Given the description of an element on the screen output the (x, y) to click on. 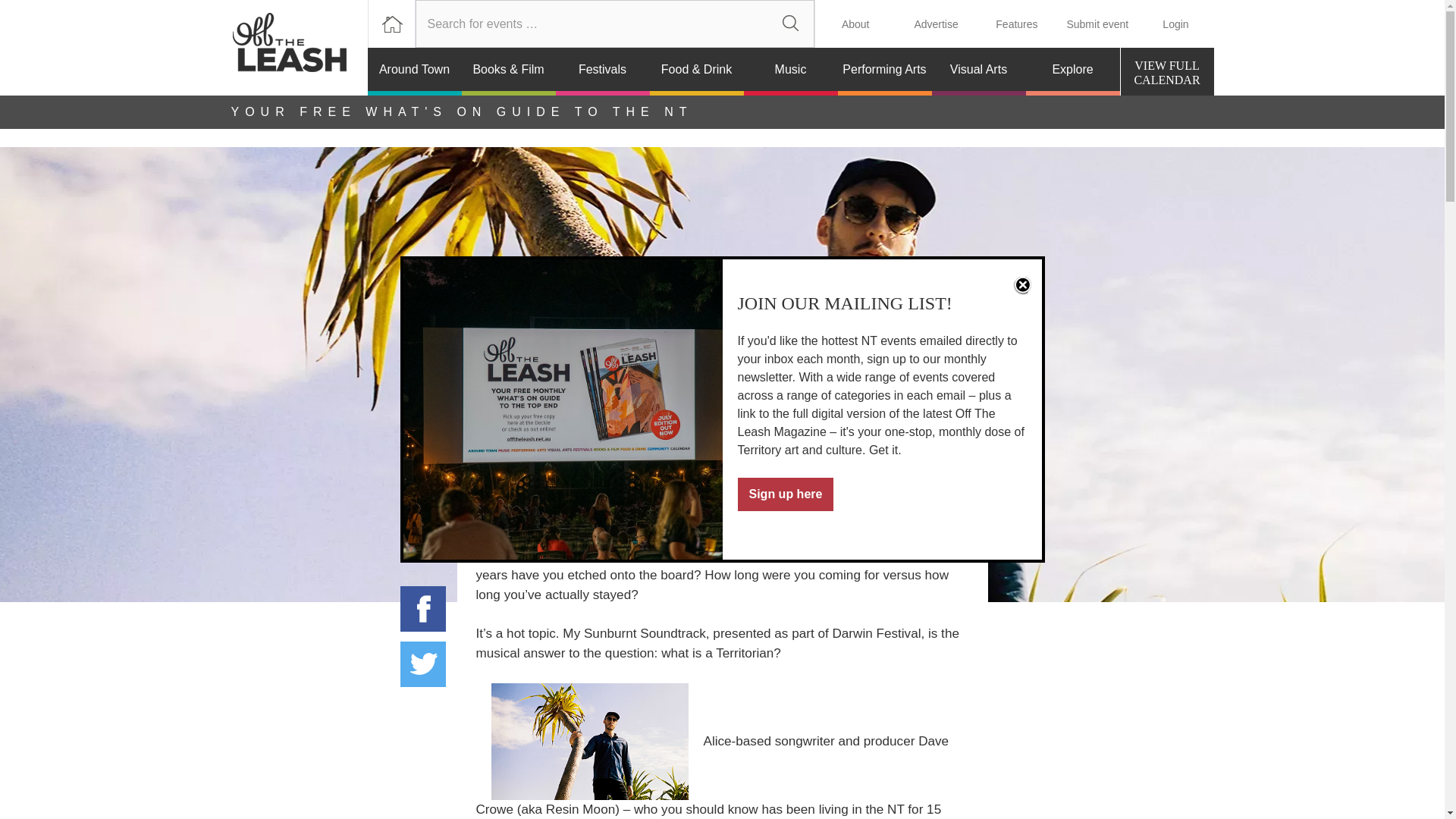
Off The Leash (298, 47)
Music (789, 71)
Search (790, 23)
Festivals (601, 71)
Tweet this on twitter (422, 664)
Login (1174, 23)
Share on Facebook (422, 608)
Explore (1072, 71)
About (855, 23)
Search (790, 23)
